Given the description of an element on the screen output the (x, y) to click on. 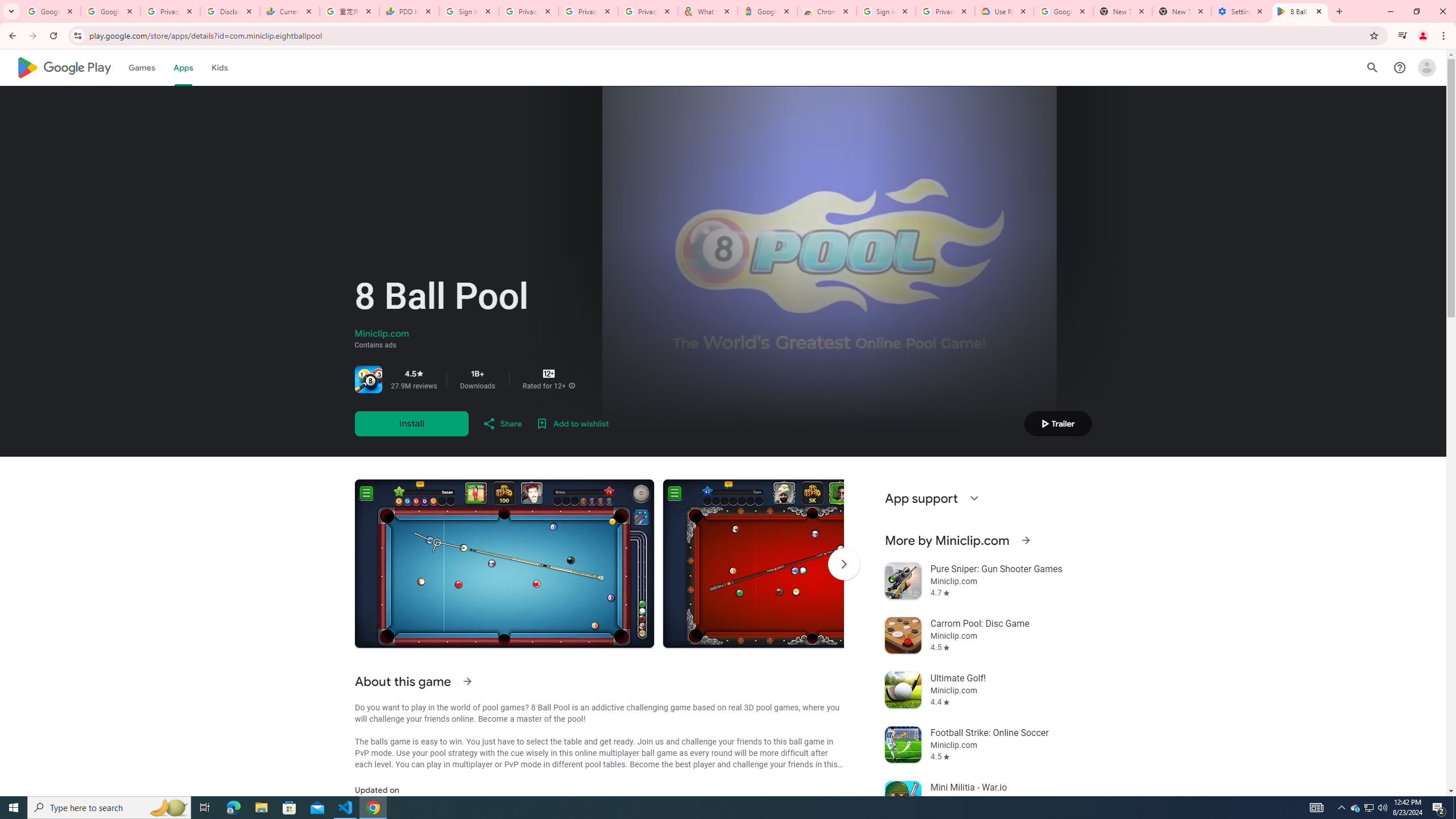
Install (410, 423)
Sign in - Google Accounts (885, 11)
Games (141, 67)
Control your music, videos, and more (1402, 35)
Chrome Web Store - Color themes by Chrome (826, 11)
New Tab (1182, 11)
Apps (182, 67)
Privacy Checkup (588, 11)
More info about this content rating (571, 385)
Miniclip.com (381, 333)
See more information on More by Miniclip.com (1025, 539)
